Given the description of an element on the screen output the (x, y) to click on. 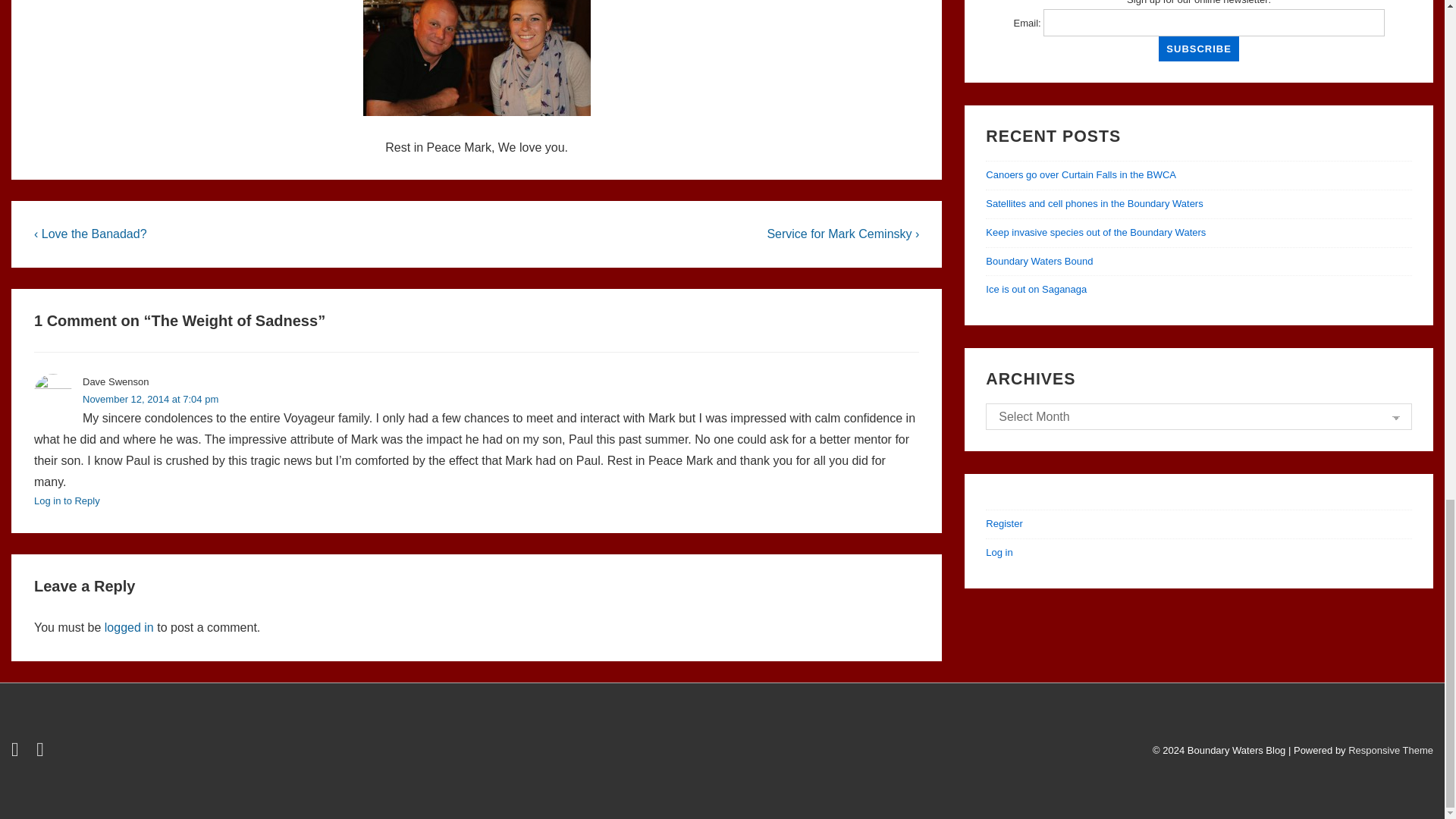
Subscribe (1198, 48)
Log in to Reply (66, 500)
November 12, 2014 at 7:04 pm (150, 398)
logged in (129, 626)
twitter (17, 752)
facebook (42, 752)
